Given the description of an element on the screen output the (x, y) to click on. 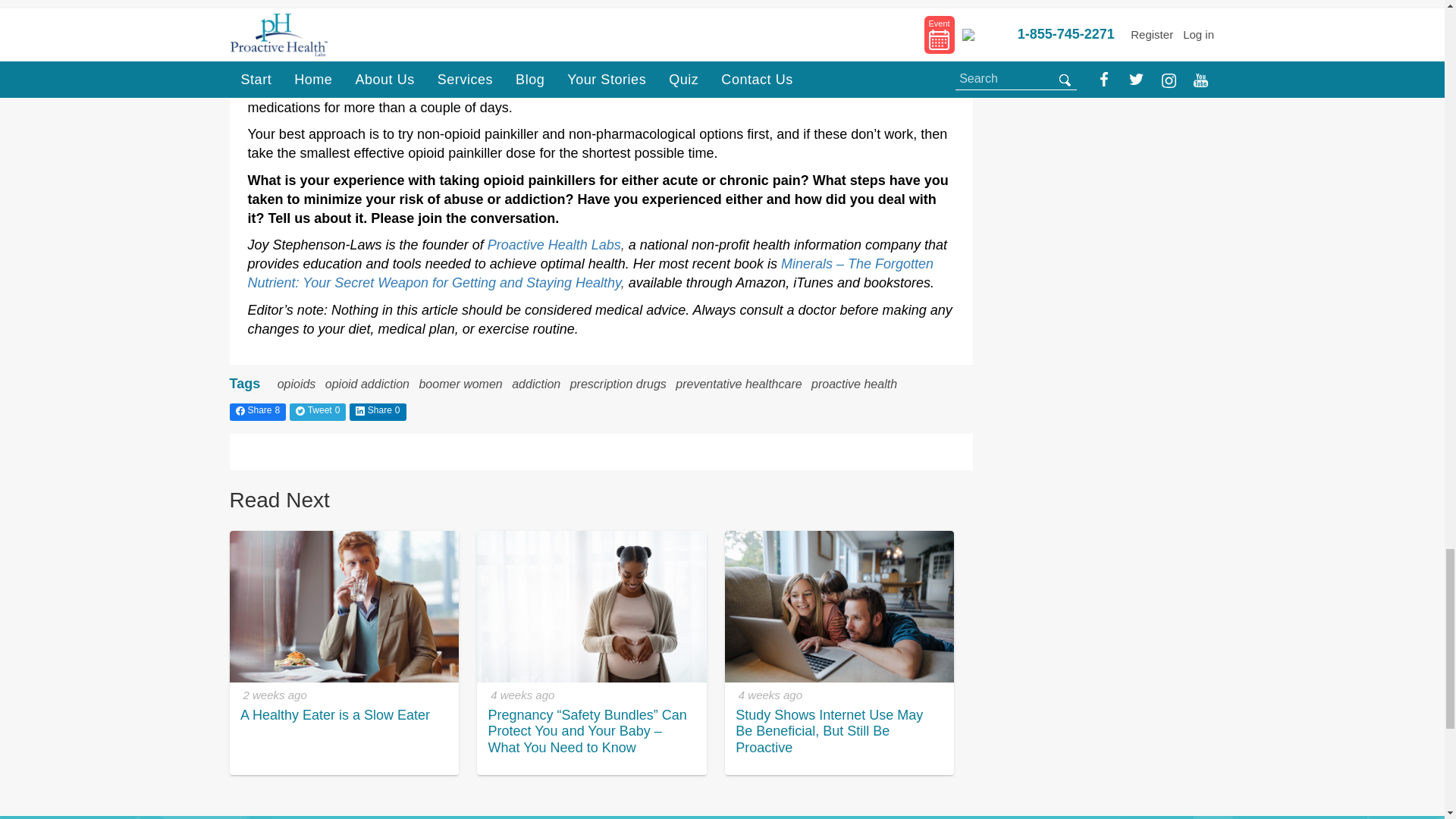
A Healthy Eater is a Slow Eater (343, 606)
